Given the description of an element on the screen output the (x, y) to click on. 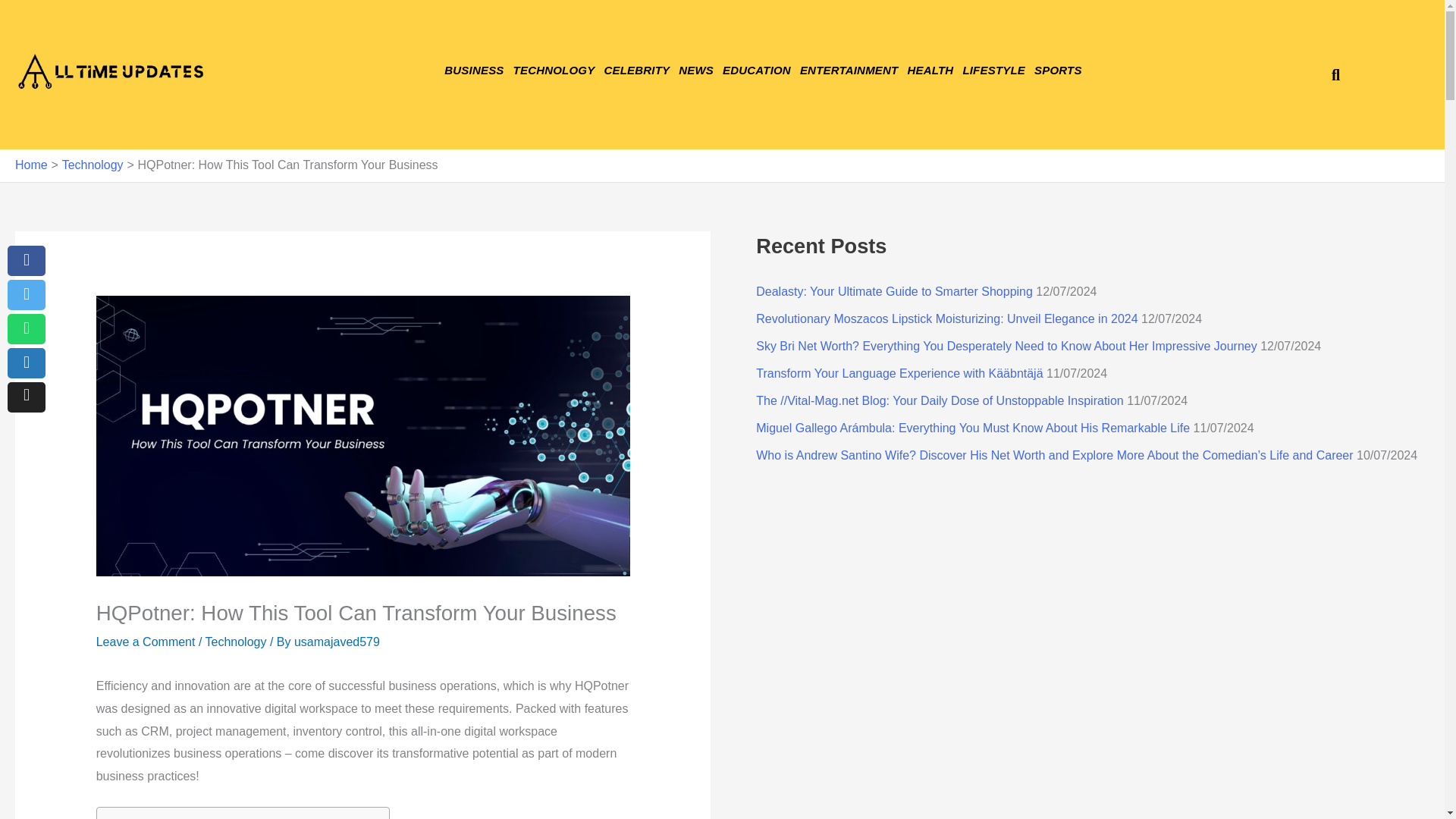
Dealasty: Your Ultimate Guide to Smarter Shopping (893, 291)
Home (31, 164)
CELEBRITY (636, 69)
EDUCATION (755, 69)
Technology (235, 641)
Technology (92, 164)
LIFESTYLE (993, 69)
SPORTS (1057, 69)
BUSINESS (473, 69)
HEALTH (930, 69)
Search (1328, 74)
TECHNOLOGY (553, 69)
View all posts by usamajaved579 (337, 641)
